Given the description of an element on the screen output the (x, y) to click on. 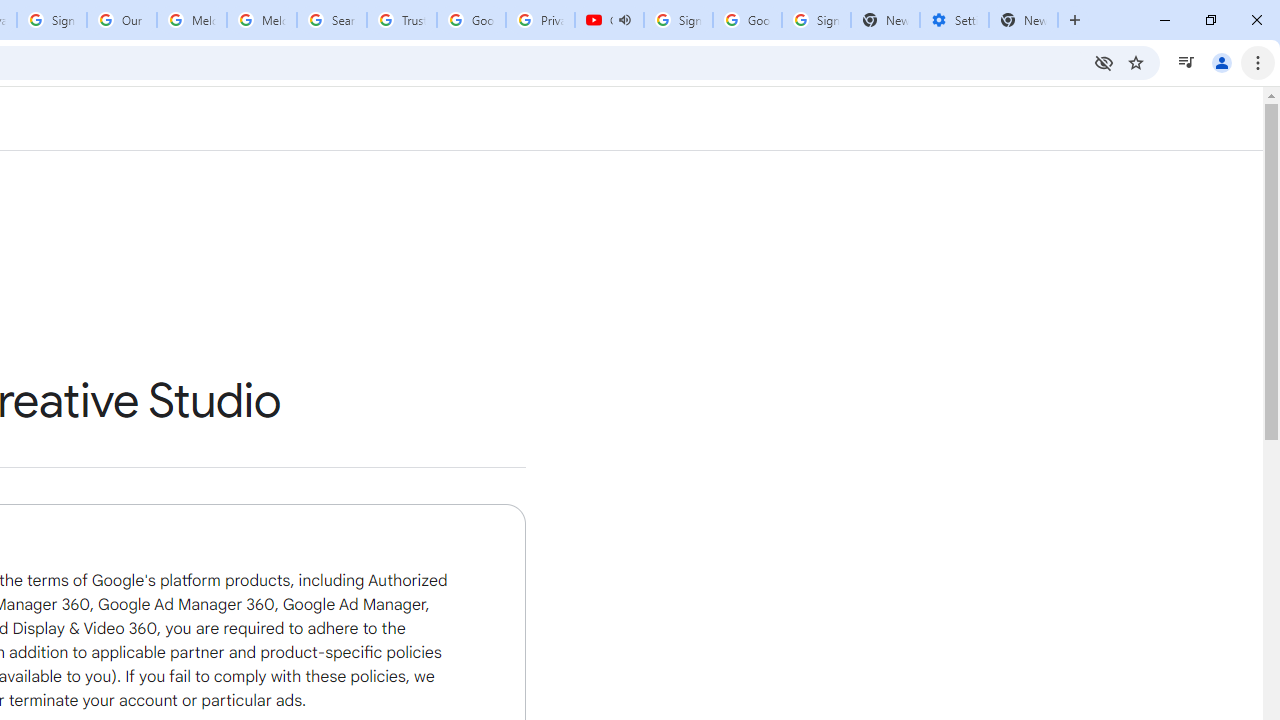
Google Cybersecurity Innovations - Google Safety Center (747, 20)
Trusted Information and Content - Google Safety Center (401, 20)
Sign in - Google Accounts (51, 20)
Settings - Addresses and more (954, 20)
